Given the description of an element on the screen output the (x, y) to click on. 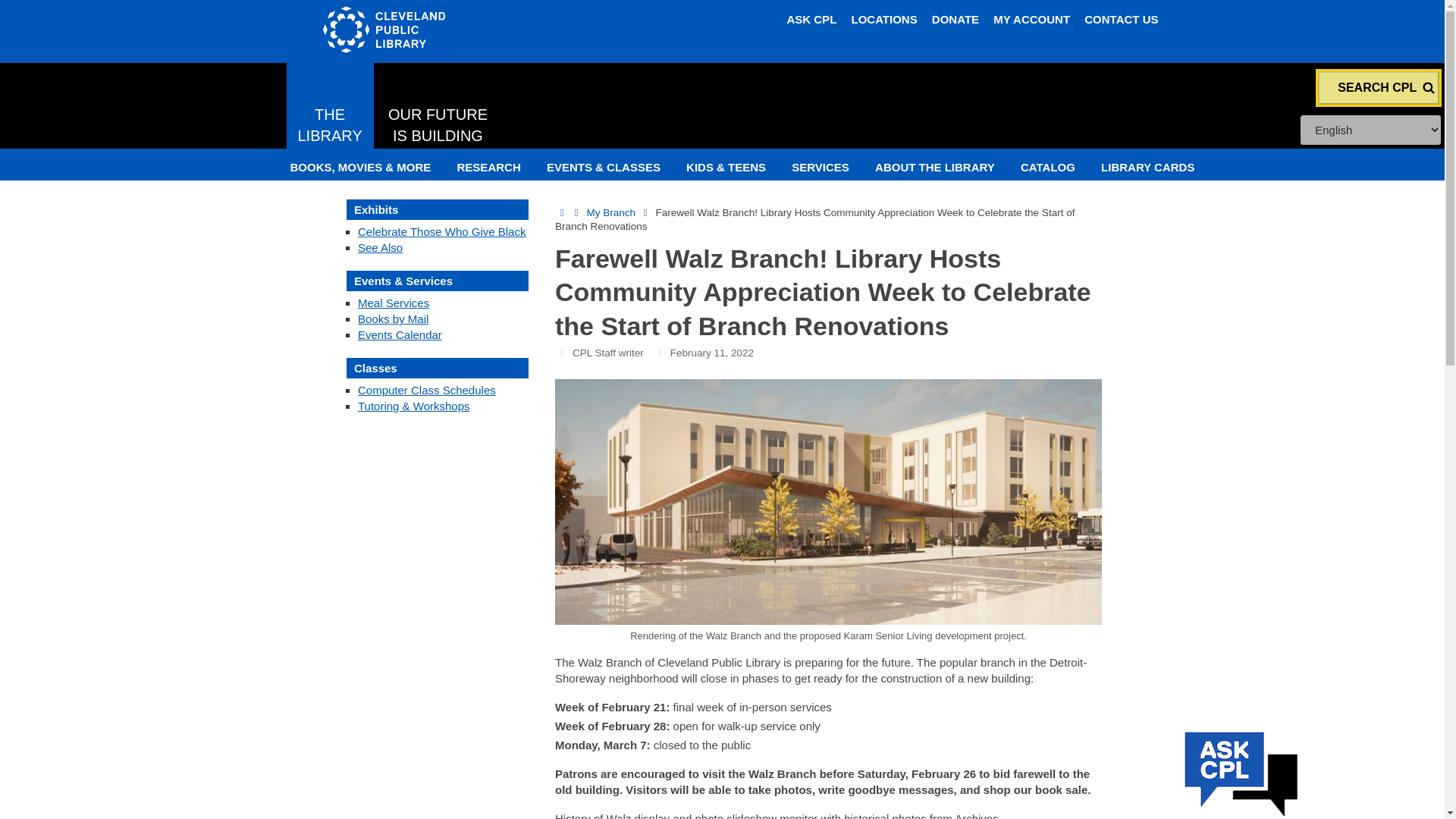
Date (659, 352)
DONATE (954, 19)
View all posts by The Staff (607, 352)
RESEARCH (488, 167)
Author  (561, 352)
homepage of Cleveland Public Library (497, 29)
CONTACT US (1120, 19)
ASK CPL (810, 19)
MY ACCOUNT (330, 108)
